Given the description of an element on the screen output the (x, y) to click on. 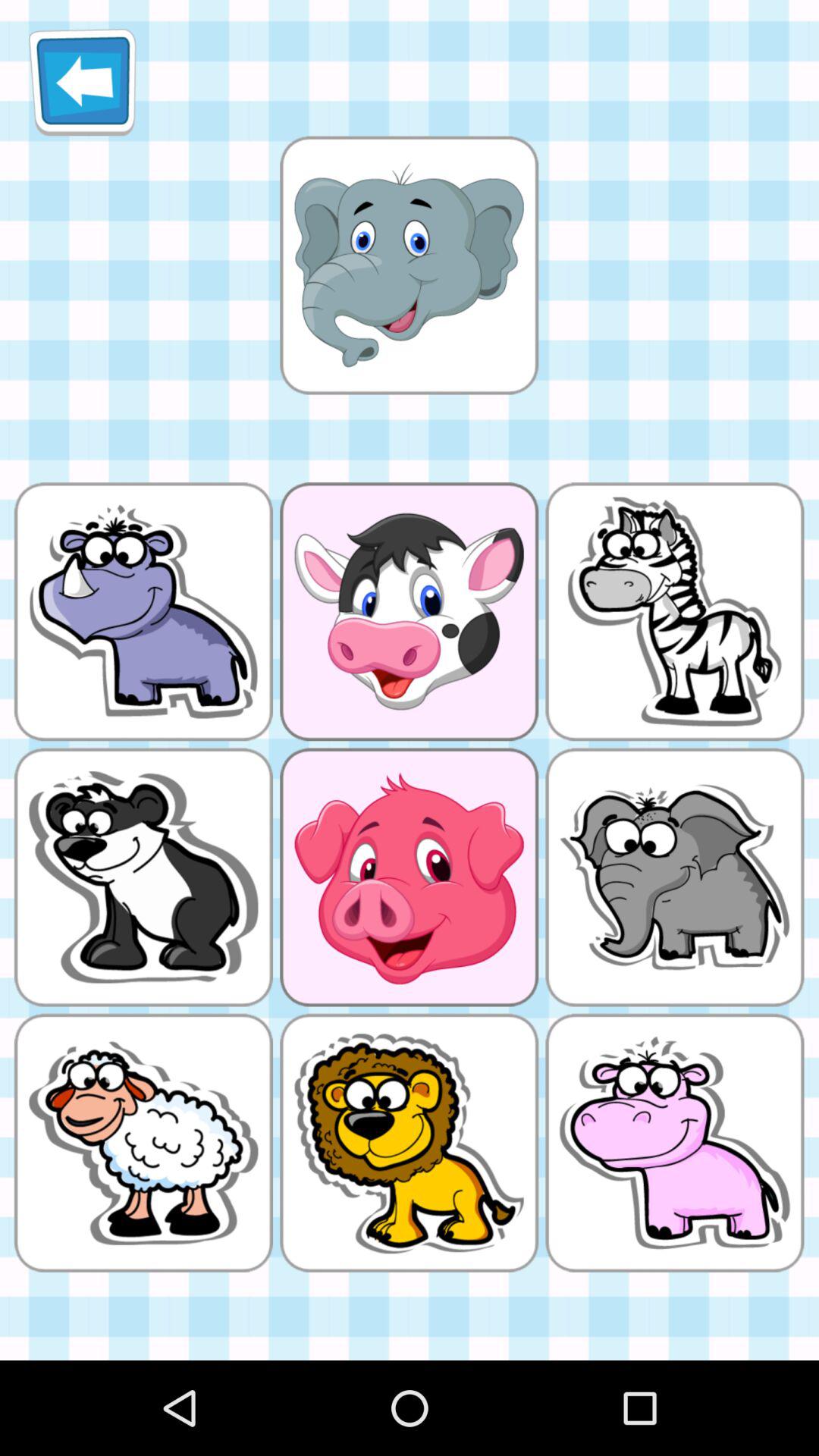
elephant picture (409, 264)
